Given the description of an element on the screen output the (x, y) to click on. 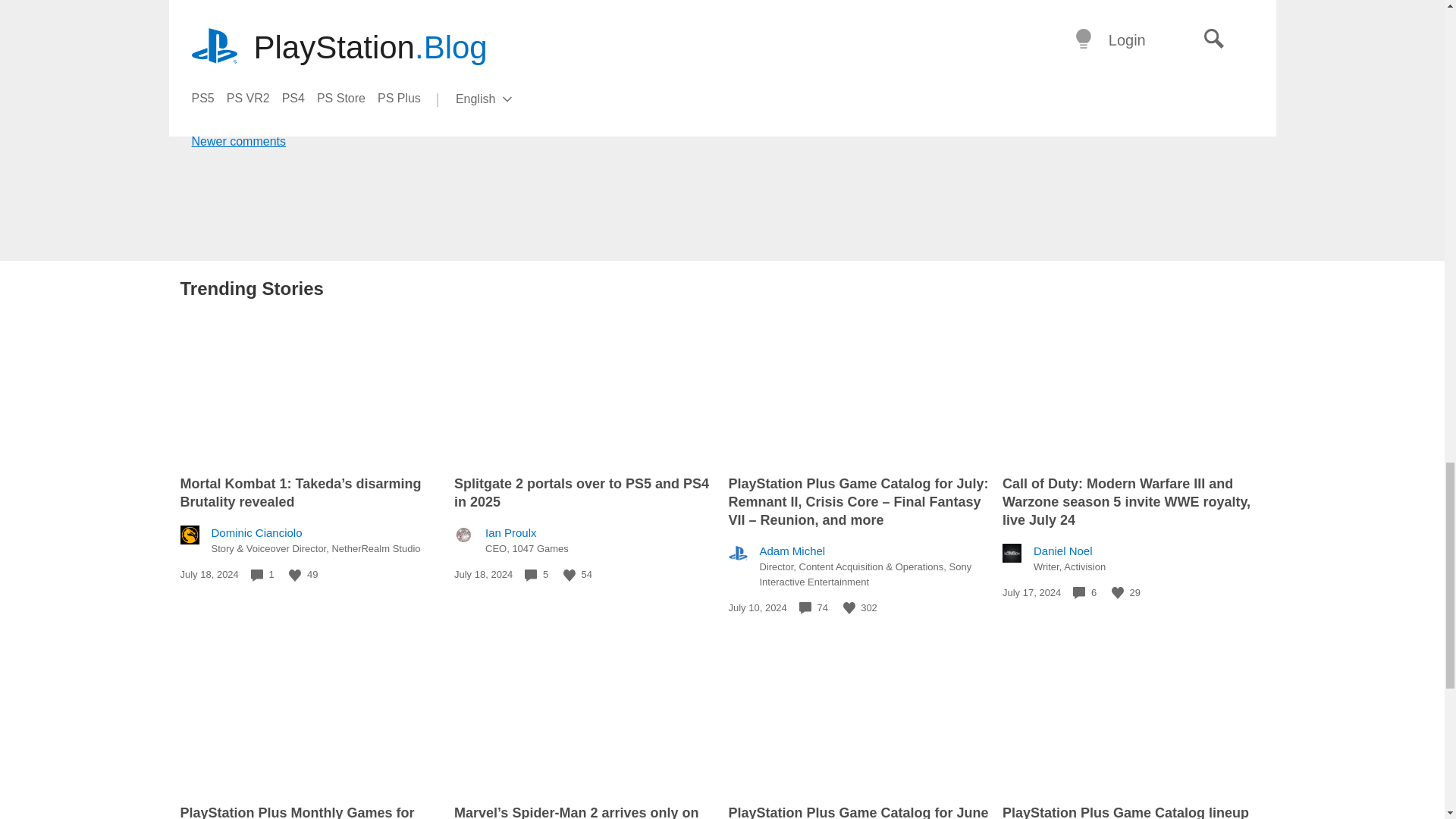
Like this (569, 574)
Like this (849, 607)
Like this (1118, 592)
Like this (294, 574)
